Given the description of an element on the screen output the (x, y) to click on. 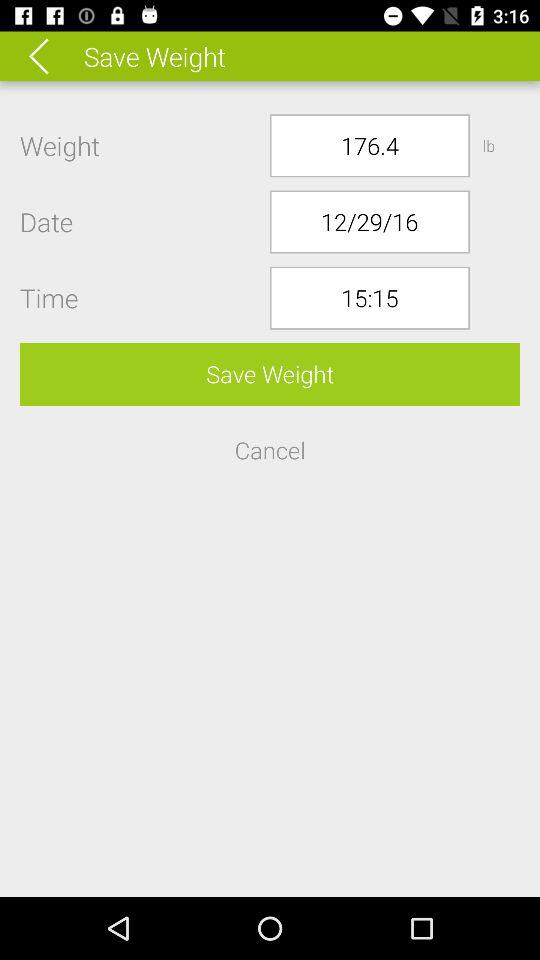
flip until 176.4 item (369, 145)
